Given the description of an element on the screen output the (x, y) to click on. 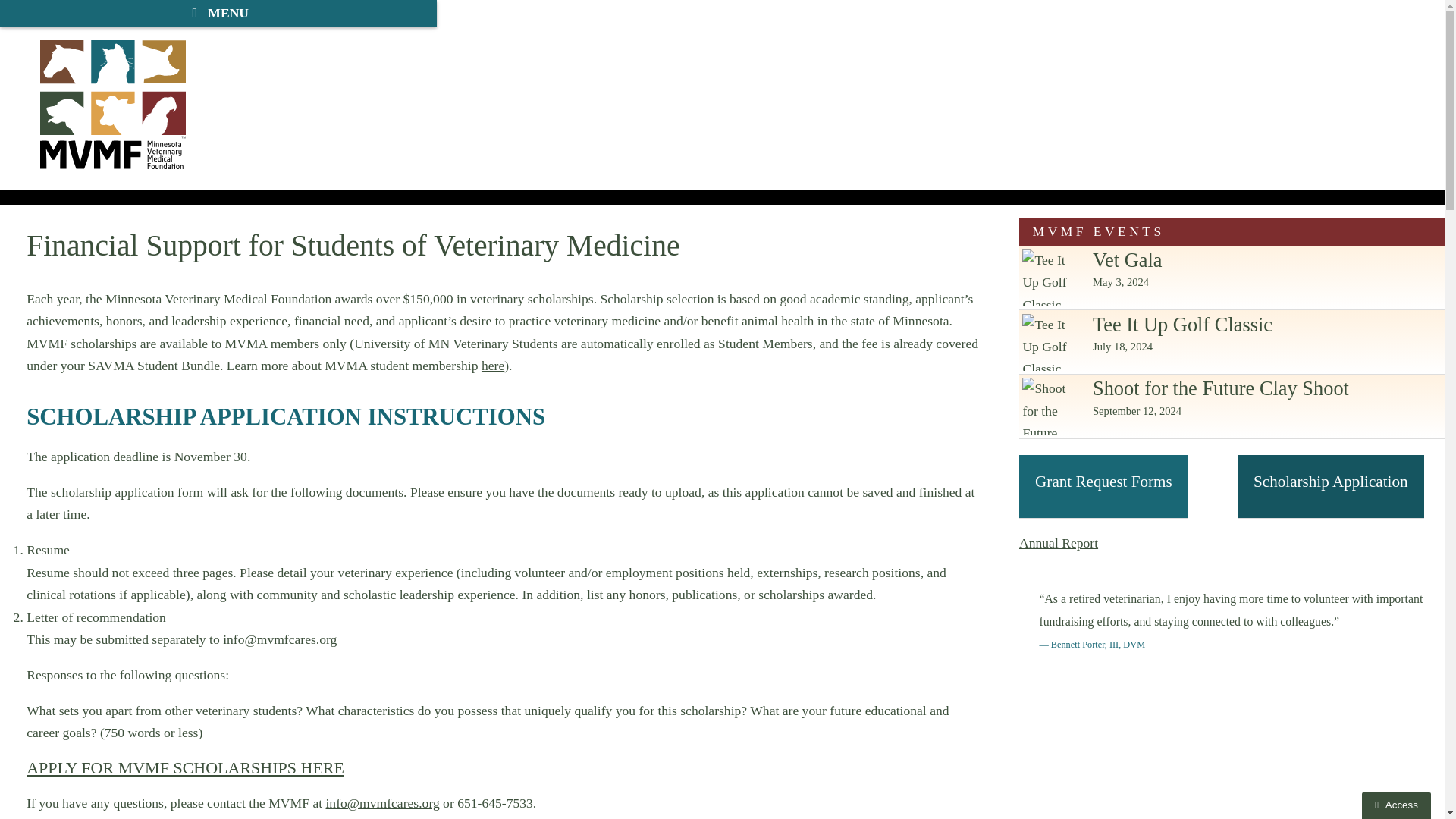
Grant Request Forms (1103, 486)
Tee It Up Golf Classic (1050, 342)
APPLY FOR MVMF SCHOLARSHIPS HERE (184, 767)
Access (1396, 805)
Tee It Up Golf Classic (1050, 277)
Minnesota Veterinary Medical Foundation (113, 102)
here (492, 365)
Annual Report (1058, 542)
Shoot for the Future Clay Shoot (1050, 405)
Scholarship Application (1330, 486)
